Given the description of an element on the screen output the (x, y) to click on. 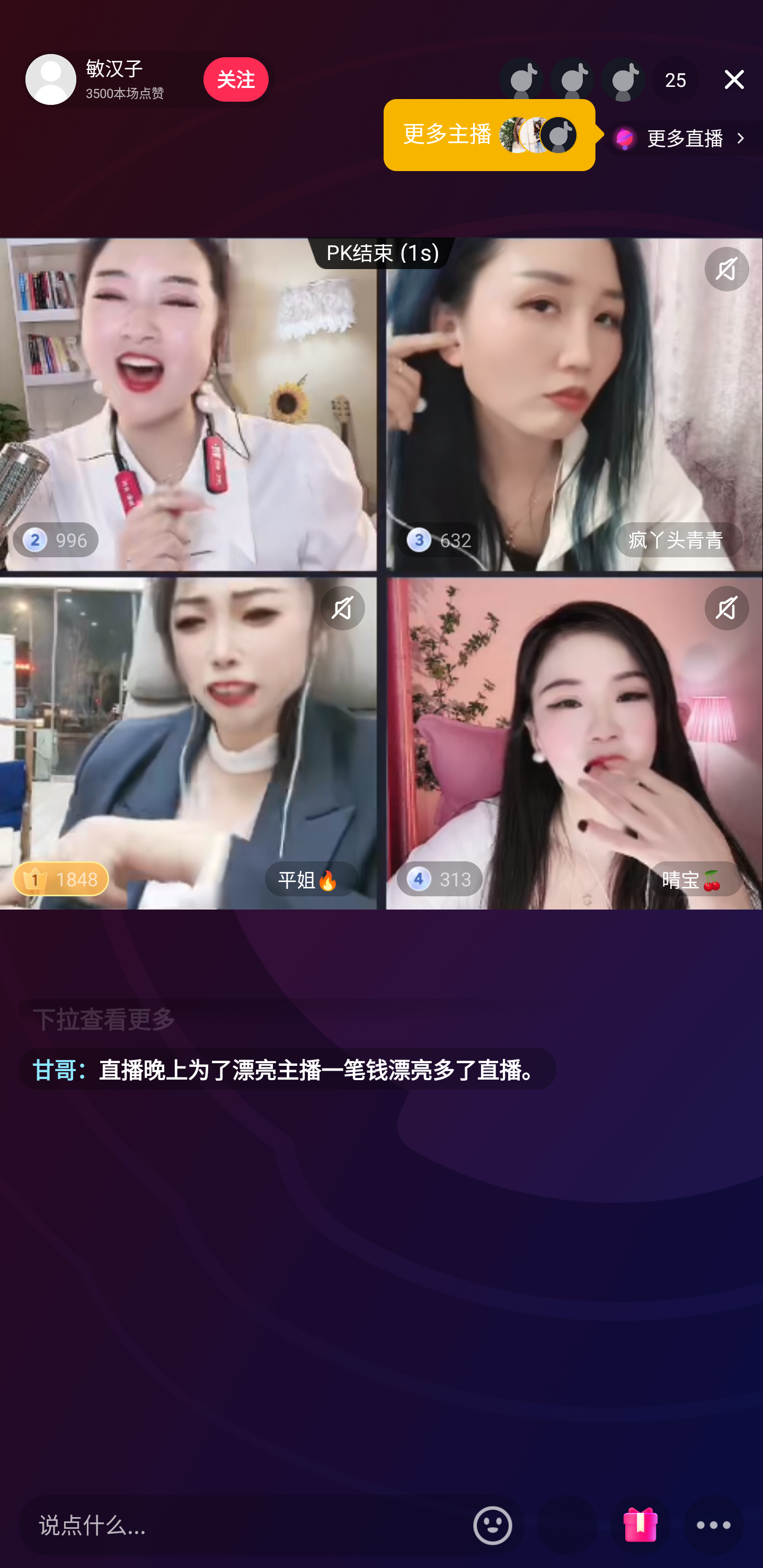
更多主播 (494, 134)
